Given the description of an element on the screen output the (x, y) to click on. 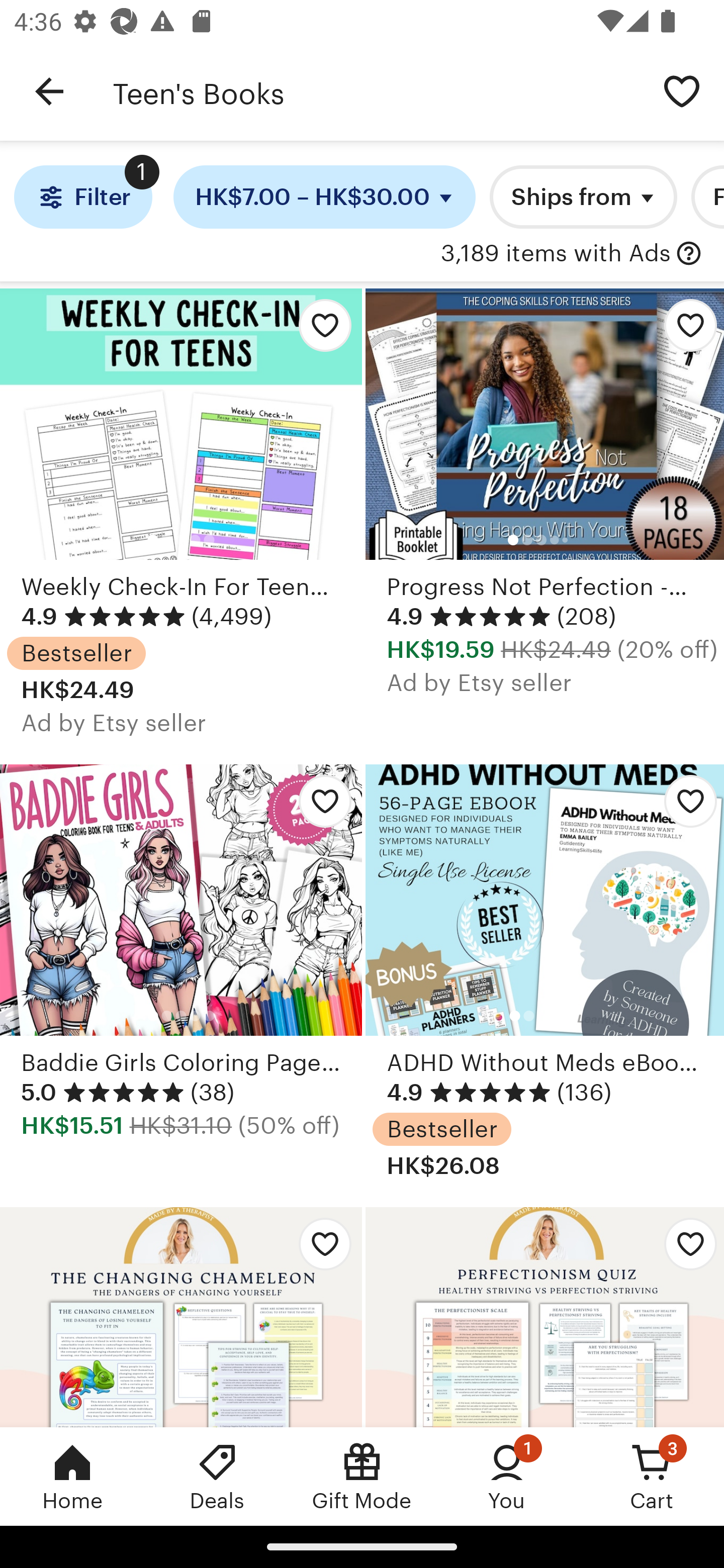
Navigate up (49, 91)
Save search (681, 90)
Teen's Books (375, 91)
Filter (82, 197)
HK$7.00 – HK$30.00 (324, 197)
Ships from (582, 197)
3,189 items with Ads (555, 253)
with Ads (688, 253)
Deals (216, 1475)
Gift Mode (361, 1475)
You, 1 new notification You (506, 1475)
Cart, 3 new notifications Cart (651, 1475)
